Given the description of an element on the screen output the (x, y) to click on. 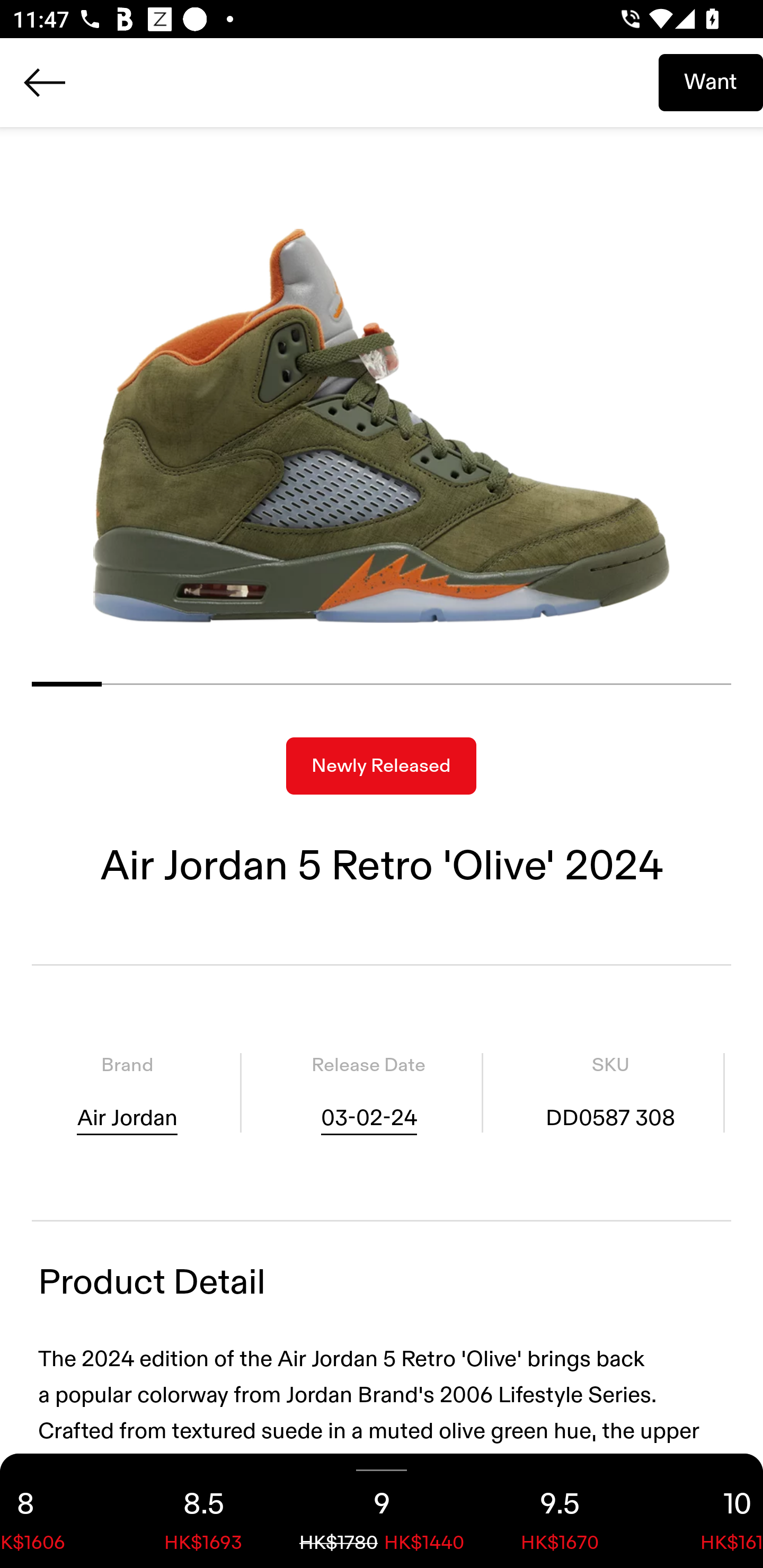
Want (710, 82)
Newly Released (381, 765)
Brand Air Jordan (126, 1092)
Release Date 03-02-24 (368, 1092)
SKU DD0587 308 (609, 1092)
8 HK$1606 (57, 1510)
8.5 HK$1693 (203, 1510)
9 HK$1780 HK$1440 (381, 1510)
9.5 HK$1670 (559, 1510)
10 HK$1614 (705, 1510)
